Given the description of an element on the screen output the (x, y) to click on. 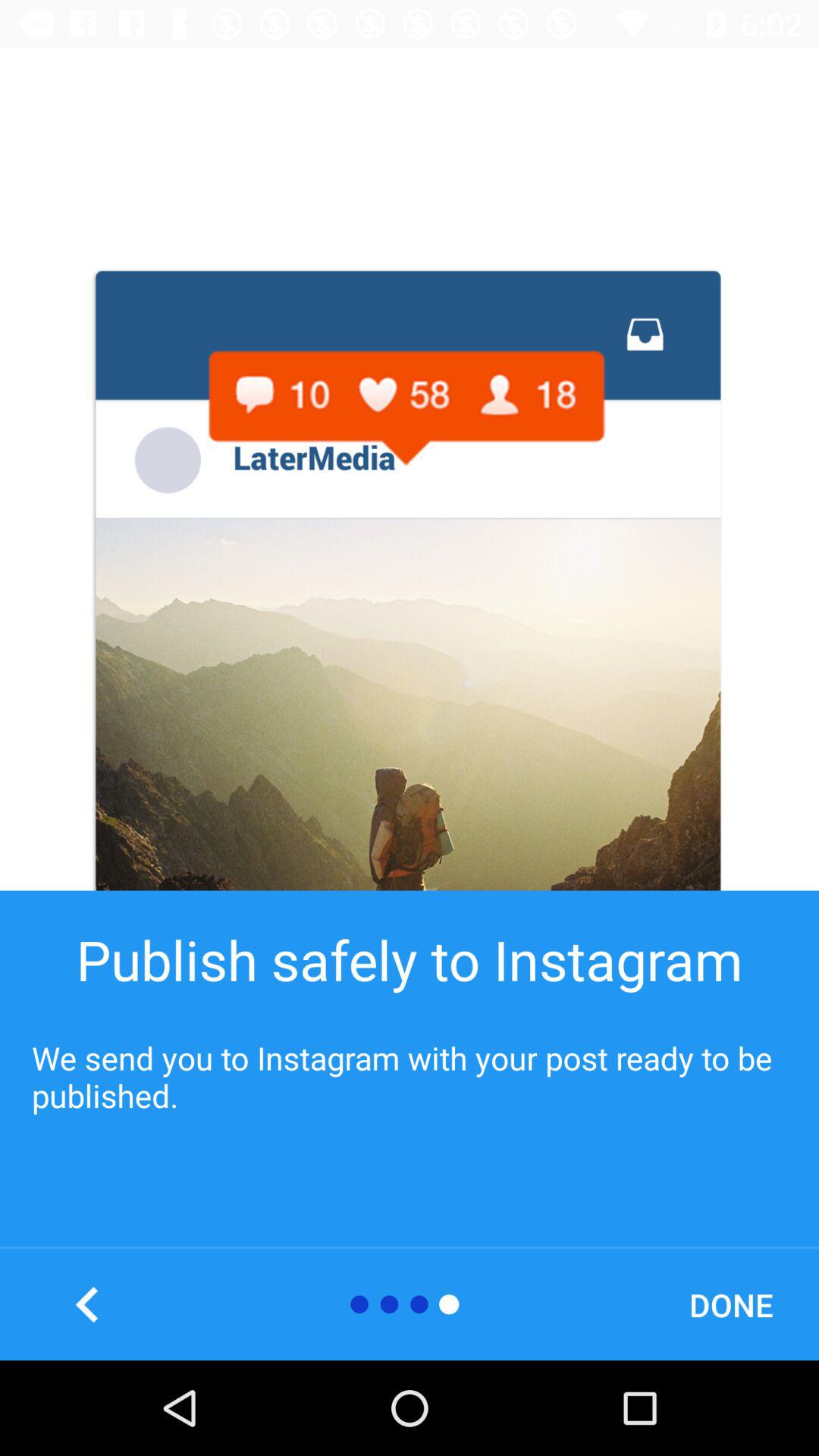
back button (87, 1304)
